Given the description of an element on the screen output the (x, y) to click on. 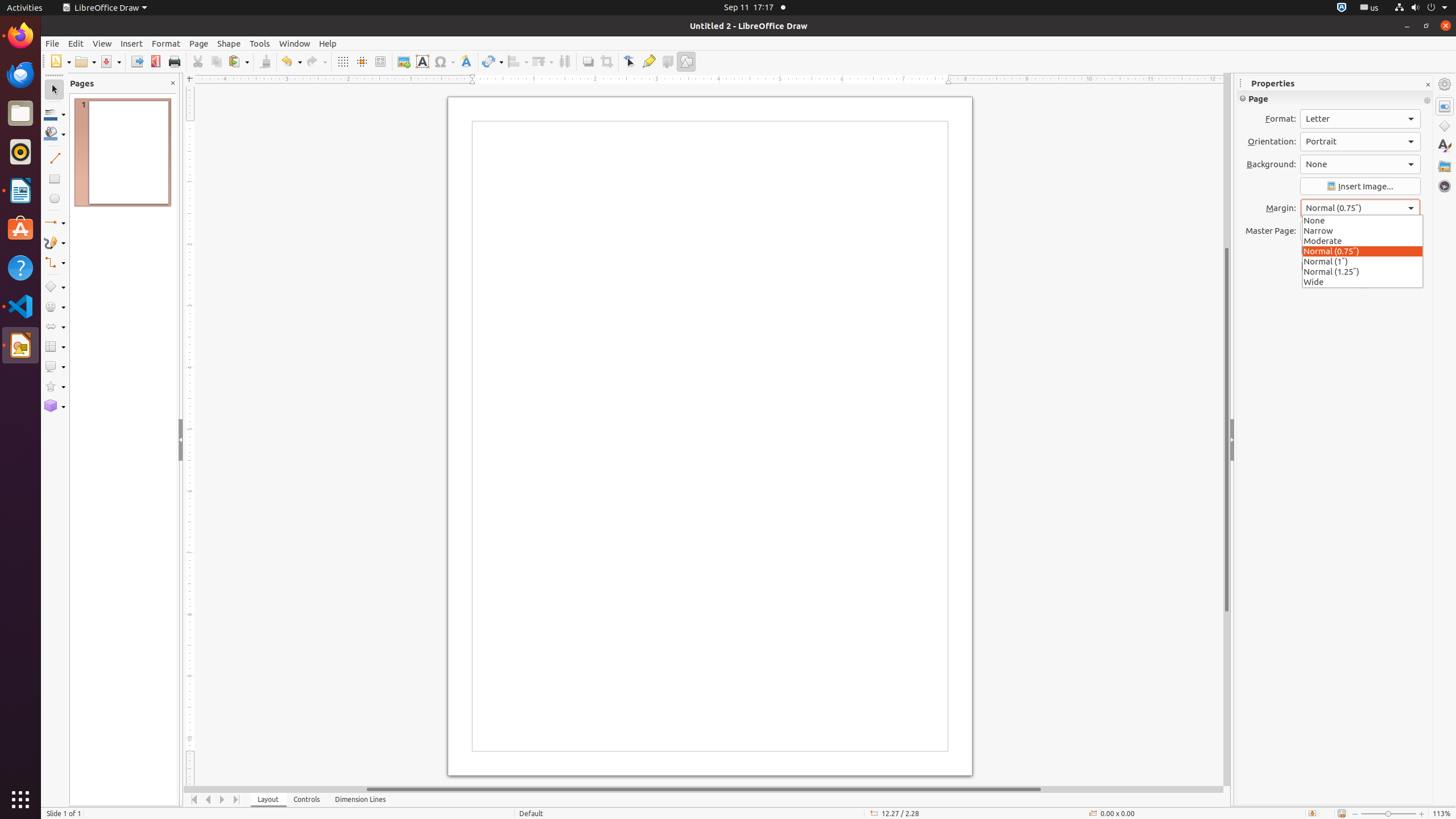
Normal (1.25″) Element type: list-item (1362, 271)
Callout Shapes Element type: push-button (54, 366)
Basic Shapes Element type: push-button (54, 286)
Page Element type: menu (198, 43)
Dimension Lines Element type: page-tab (360, 799)
